Given the description of an element on the screen output the (x, y) to click on. 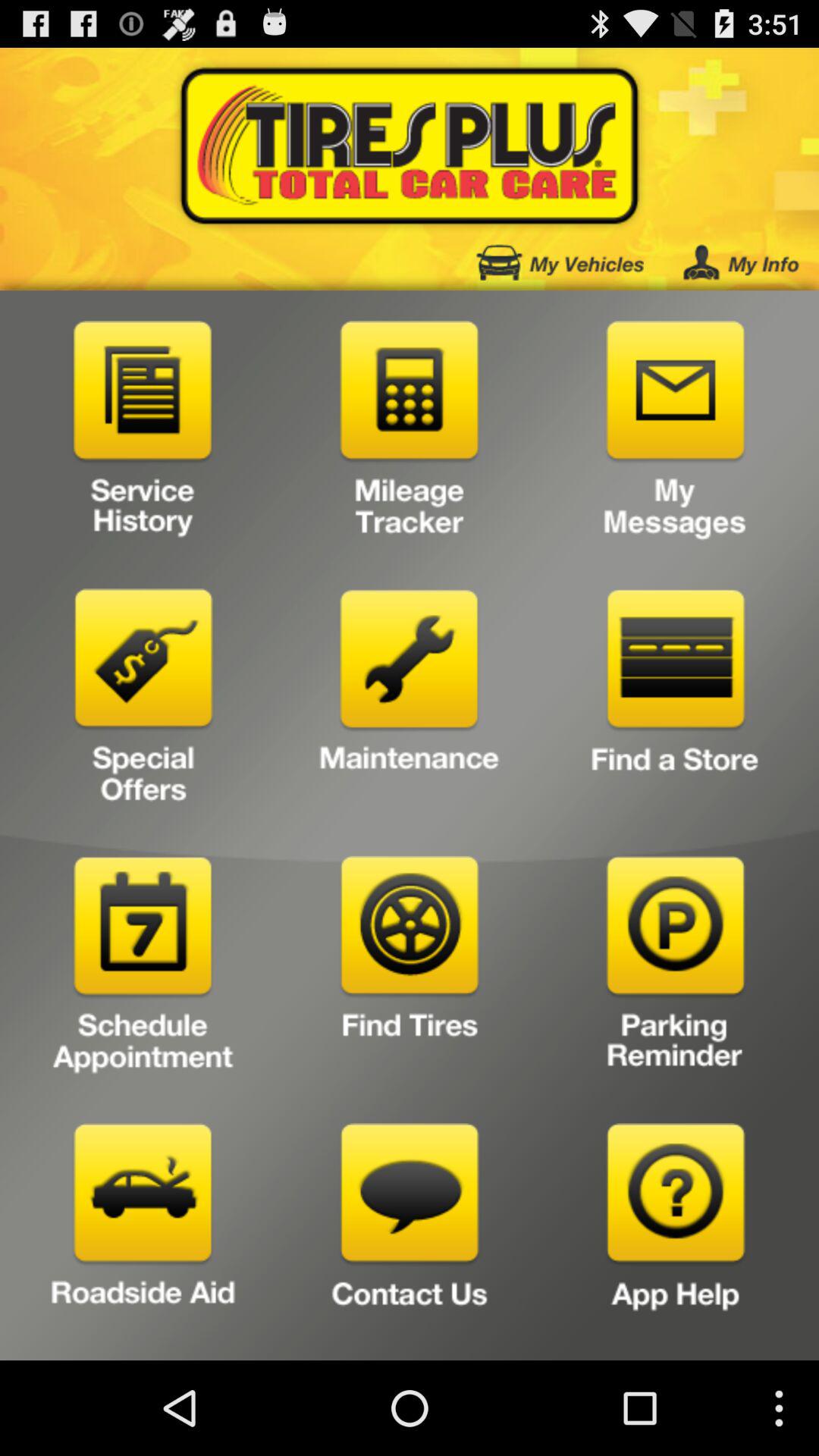
schedule appointment (142, 968)
